Given the description of an element on the screen output the (x, y) to click on. 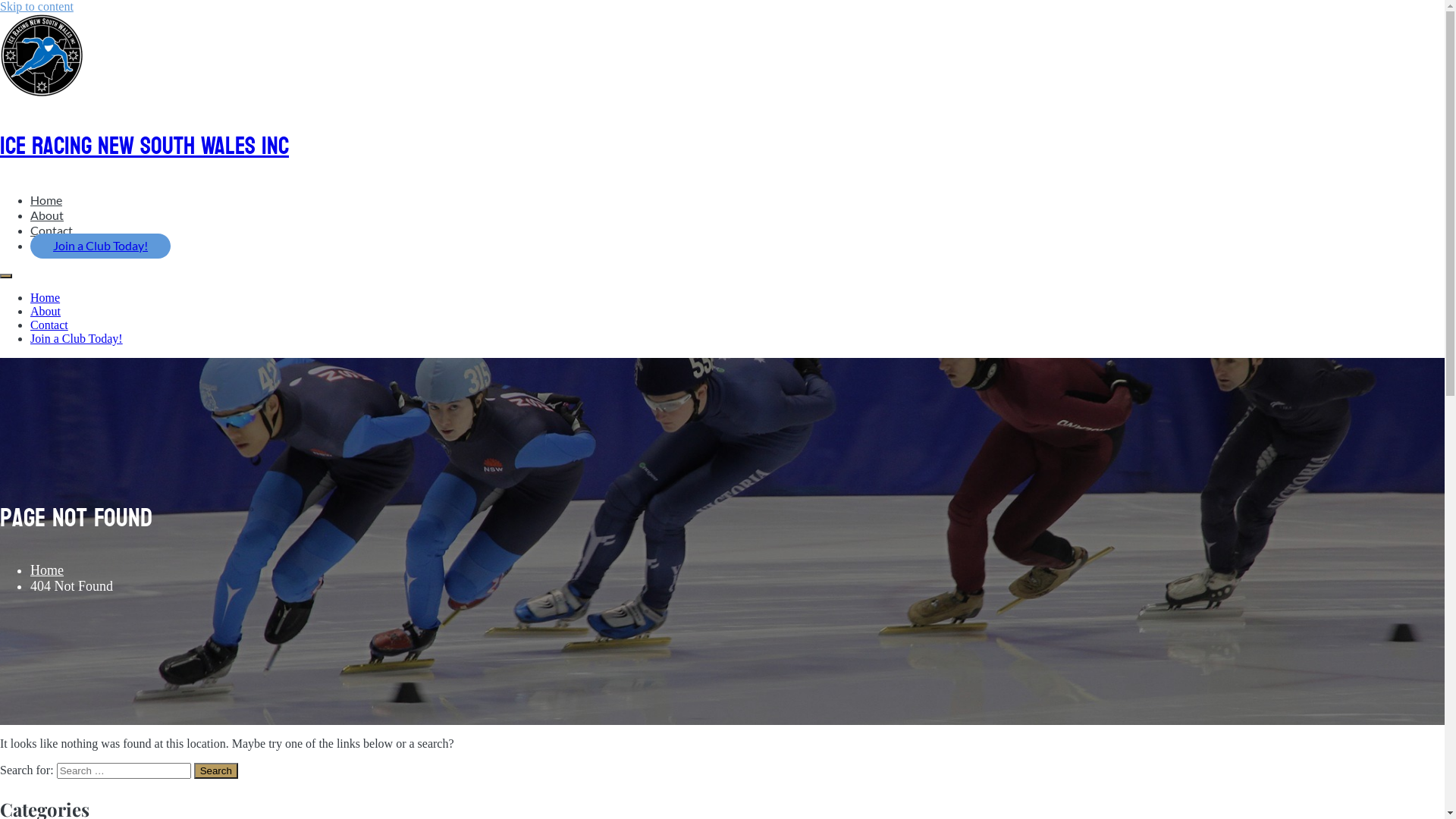
Home Element type: text (46, 199)
Home Element type: text (46, 569)
Ice Racing New South Wales Inc Element type: text (144, 146)
Join a Club Today! Element type: text (76, 338)
About Element type: text (45, 310)
Search Element type: text (216, 770)
Contact Element type: text (51, 229)
Skip to content Element type: text (36, 6)
Contact Element type: text (49, 324)
Join a Club Today! Element type: text (100, 245)
About Element type: text (46, 214)
Home Element type: text (44, 297)
